Given the description of an element on the screen output the (x, y) to click on. 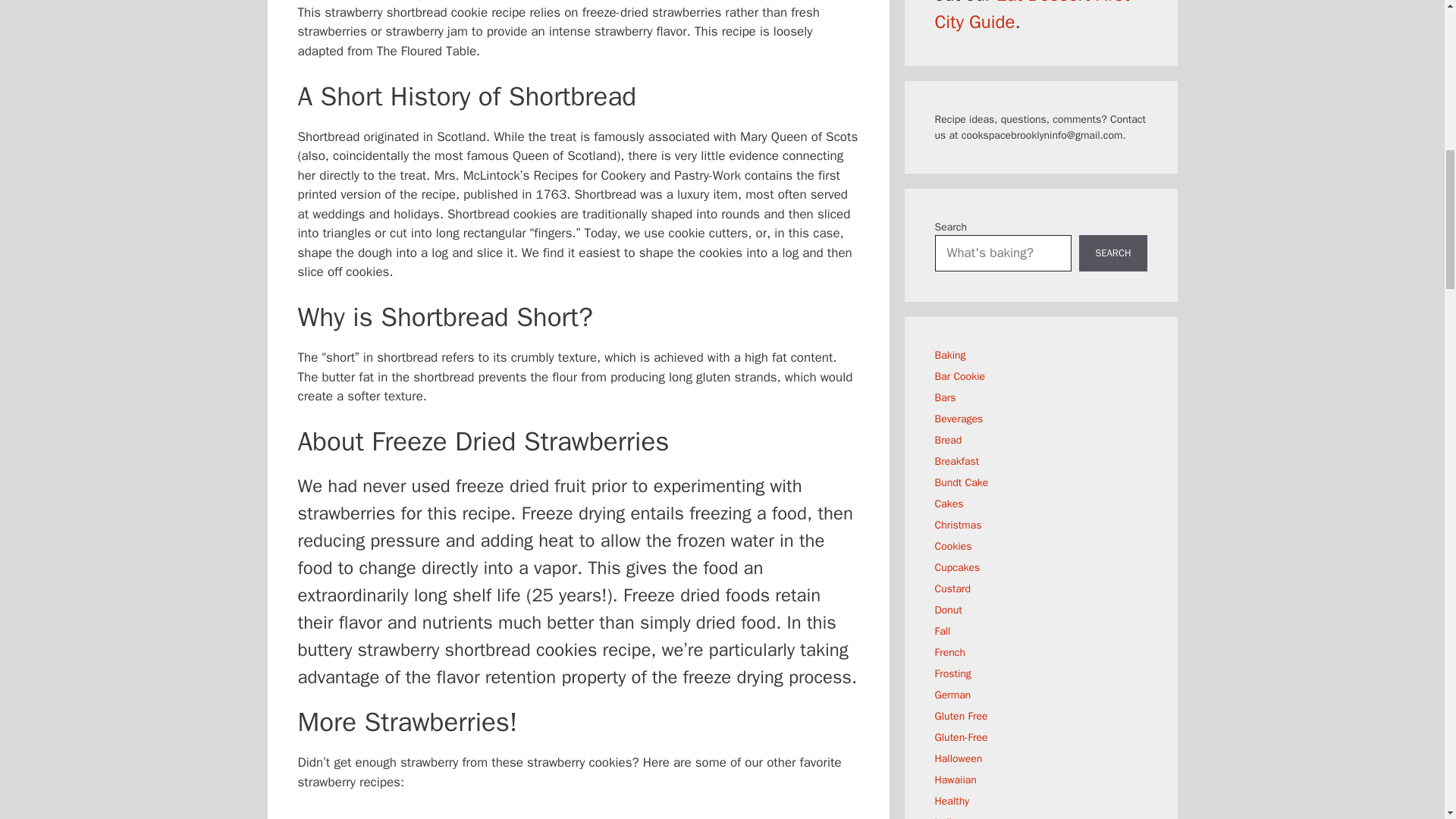
SEARCH (1112, 253)
Beverages (958, 418)
Breakfast (956, 461)
Cupcakes (956, 567)
Christmas (957, 524)
Bar Cookie (959, 376)
Cookies (952, 545)
Cakes (948, 503)
Eat Dessert First City Guide (1031, 16)
Bars (944, 397)
